Given the description of an element on the screen output the (x, y) to click on. 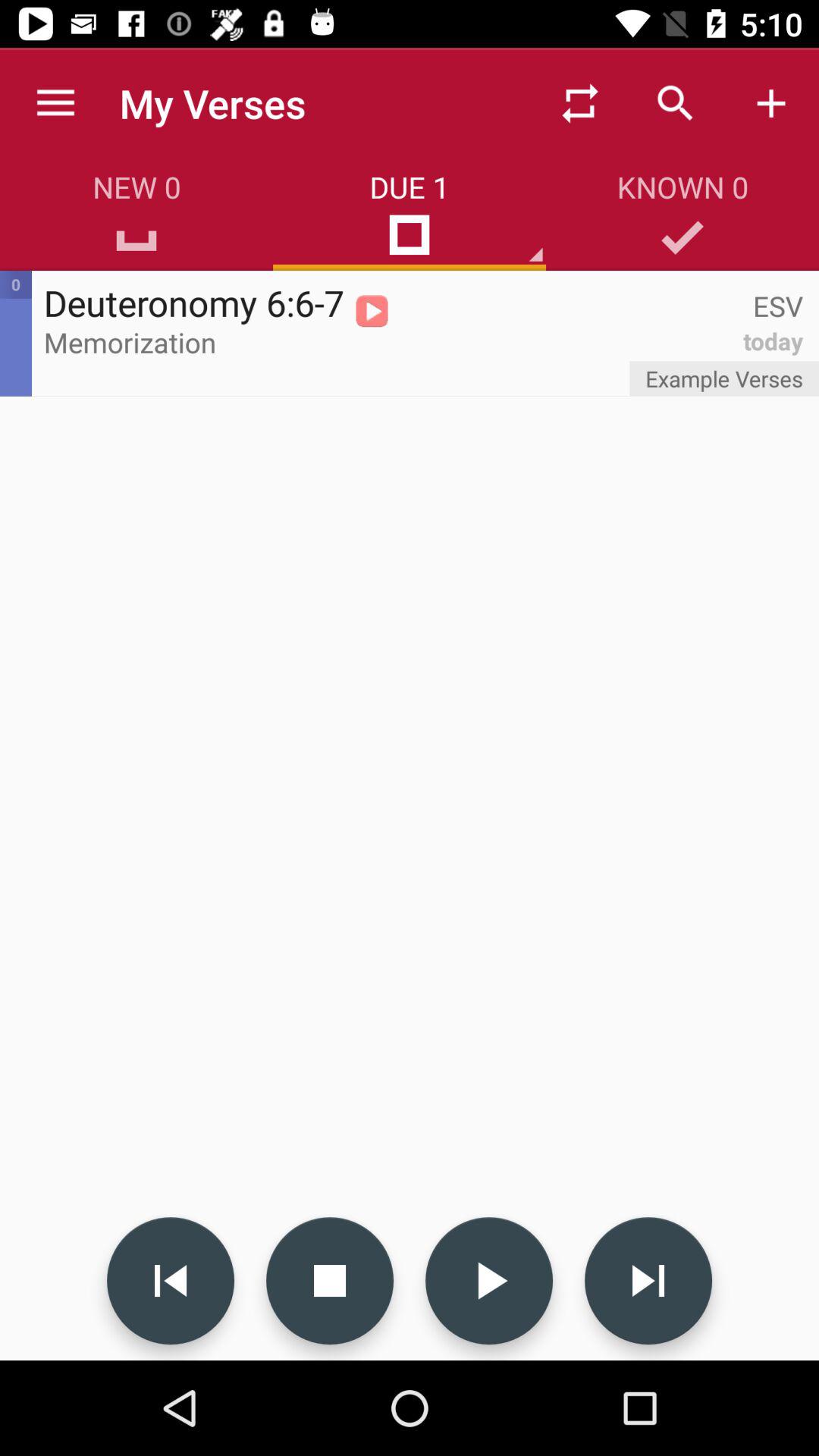
play passage (488, 1280)
